Given the description of an element on the screen output the (x, y) to click on. 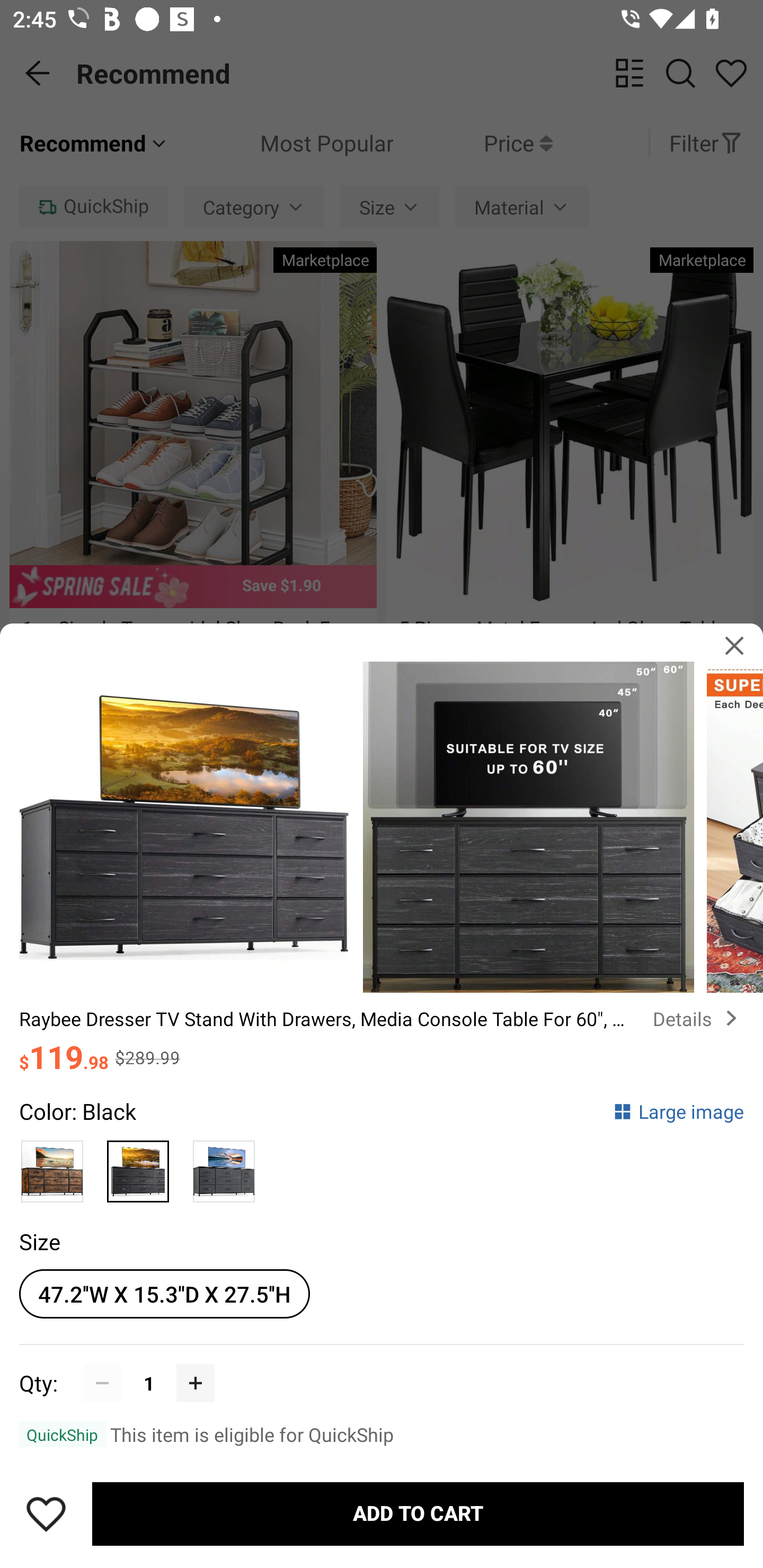
Details (698, 1018)
Color: Black (77, 1110)
Large image (677, 1110)
Rustic Brown (52, 1166)
Black (138, 1166)
Grey (224, 1166)
Size (39, 1240)
ADD TO CART (417, 1513)
Save (46, 1513)
